Given the description of an element on the screen output the (x, y) to click on. 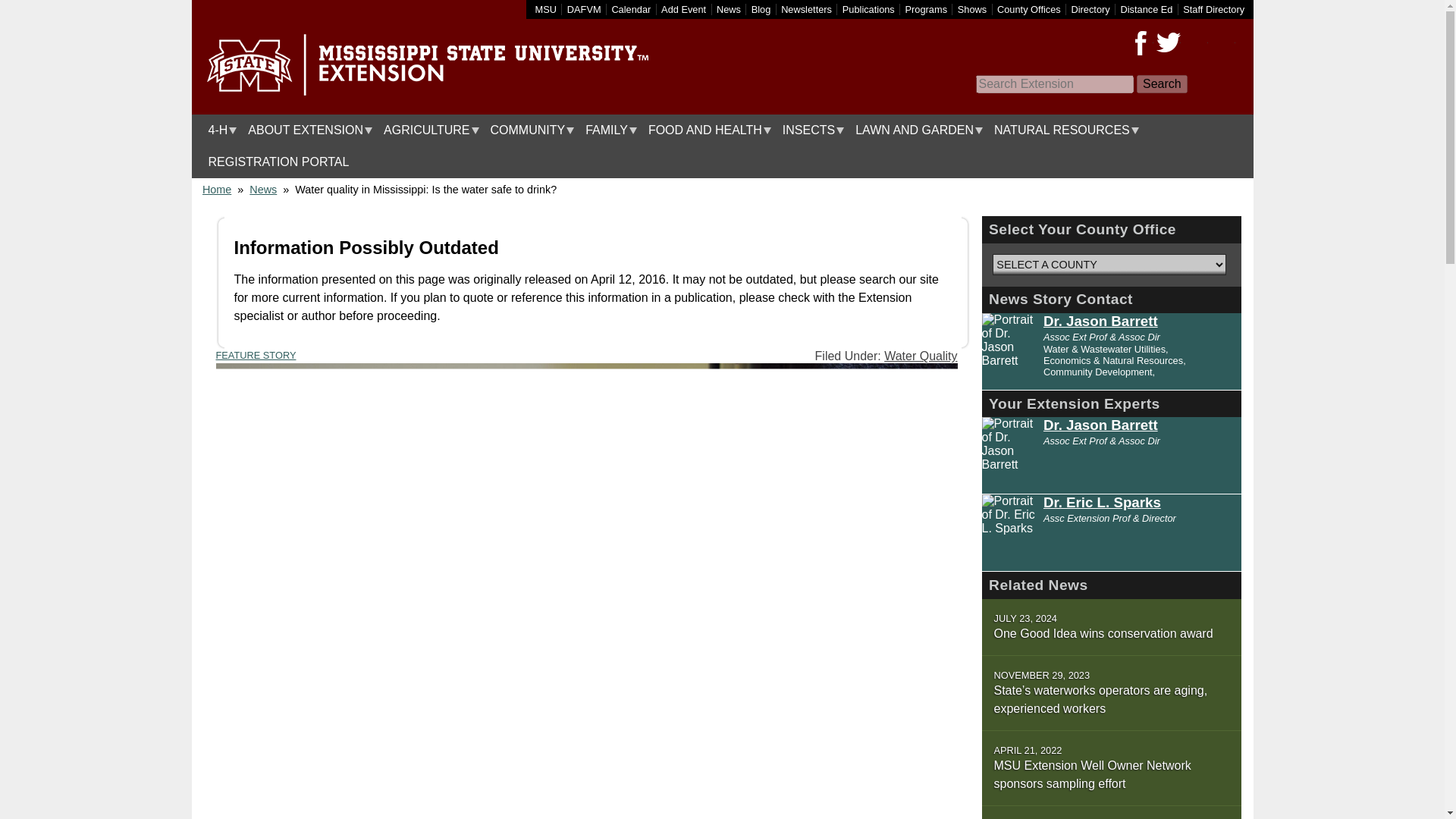
Pinterest (1194, 43)
Add Event (683, 9)
Blog (761, 9)
DAFVM (584, 9)
Twitter (1167, 43)
Distance Ed (1145, 9)
Instagram (1221, 43)
